Given the description of an element on the screen output the (x, y) to click on. 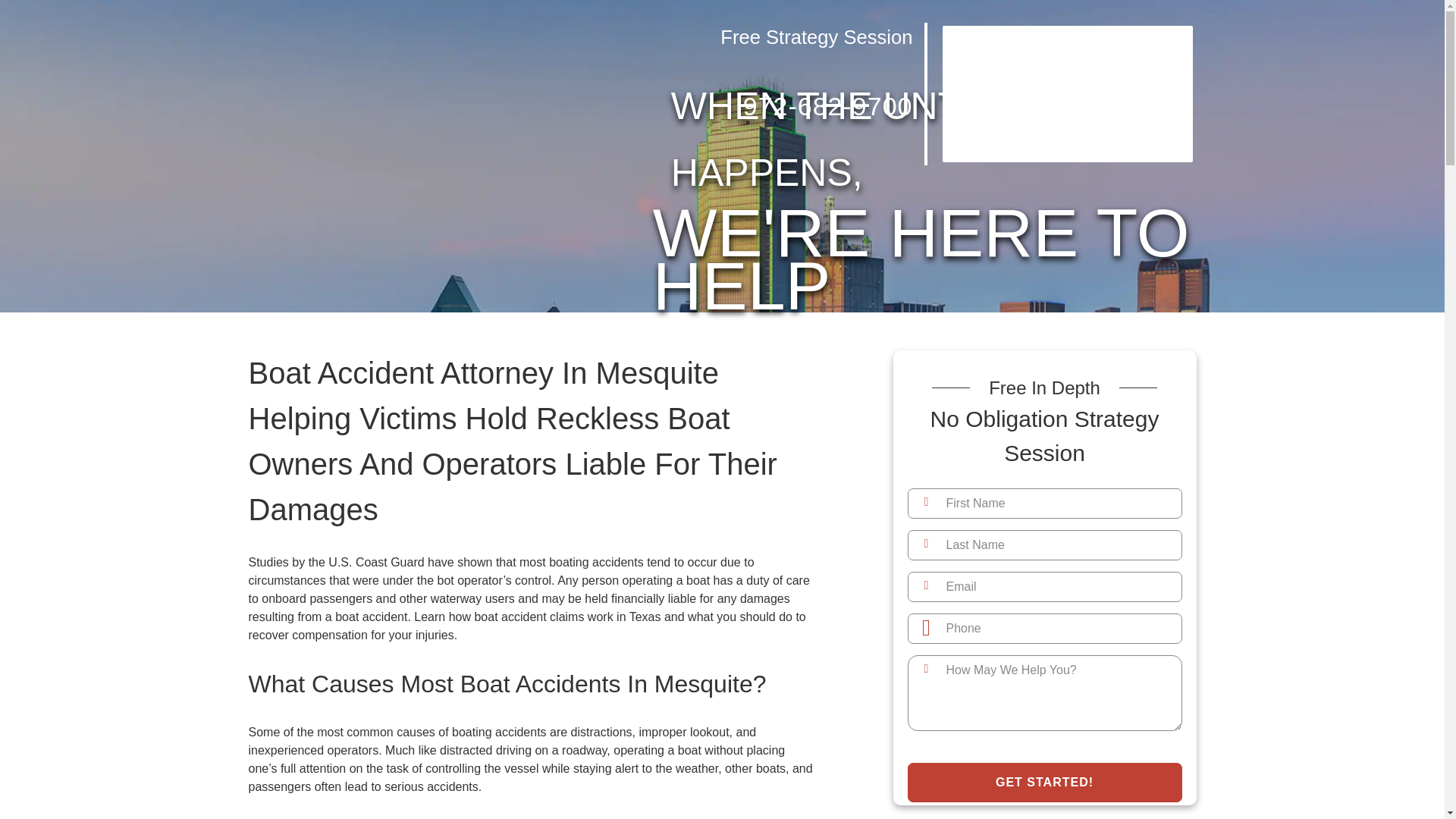
Get Started! (1043, 782)
972-682-9700 (704, 108)
Get Started! (1043, 782)
